Given the description of an element on the screen output the (x, y) to click on. 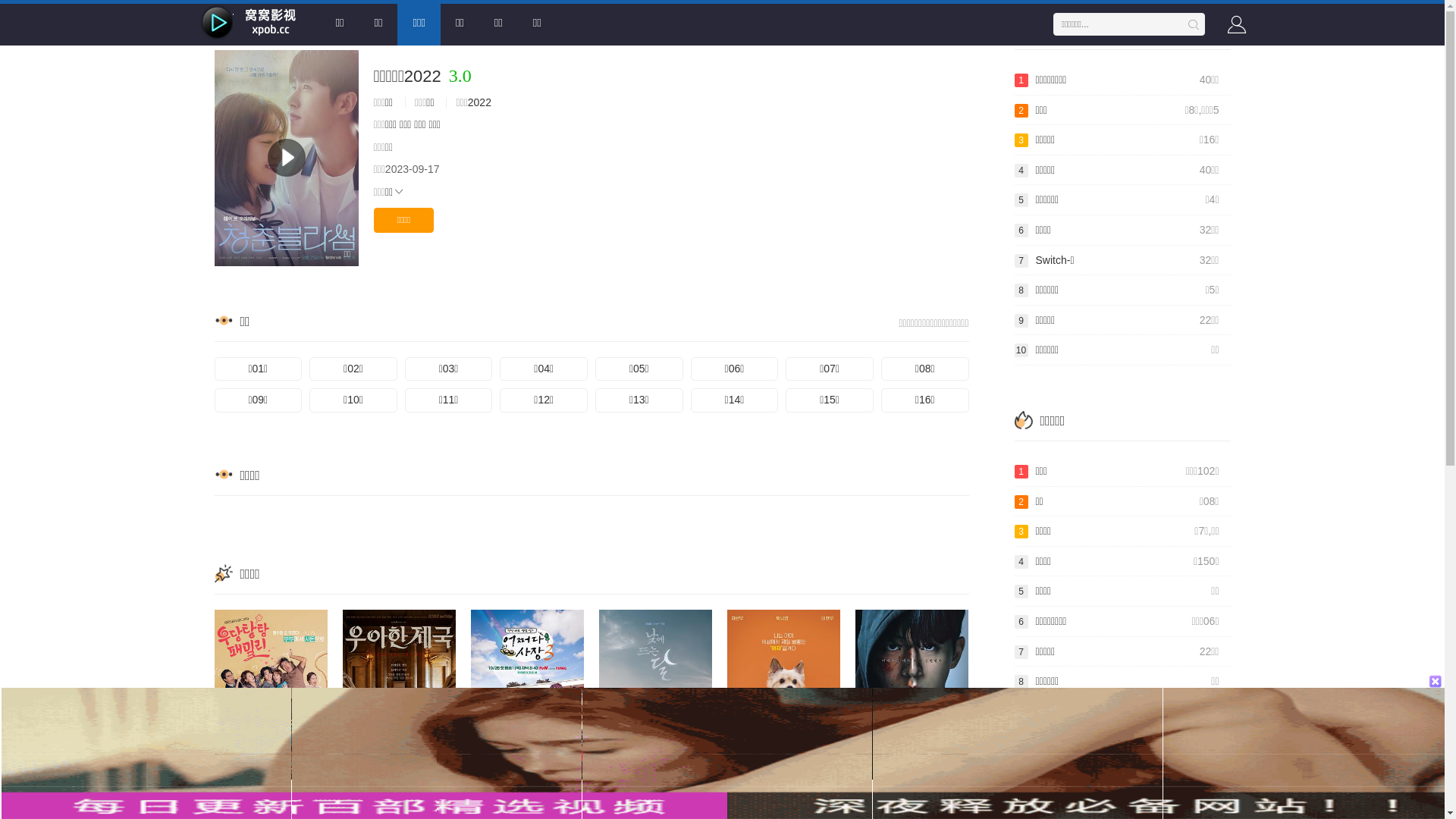
2022 Element type: text (479, 102)
